Given the description of an element on the screen output the (x, y) to click on. 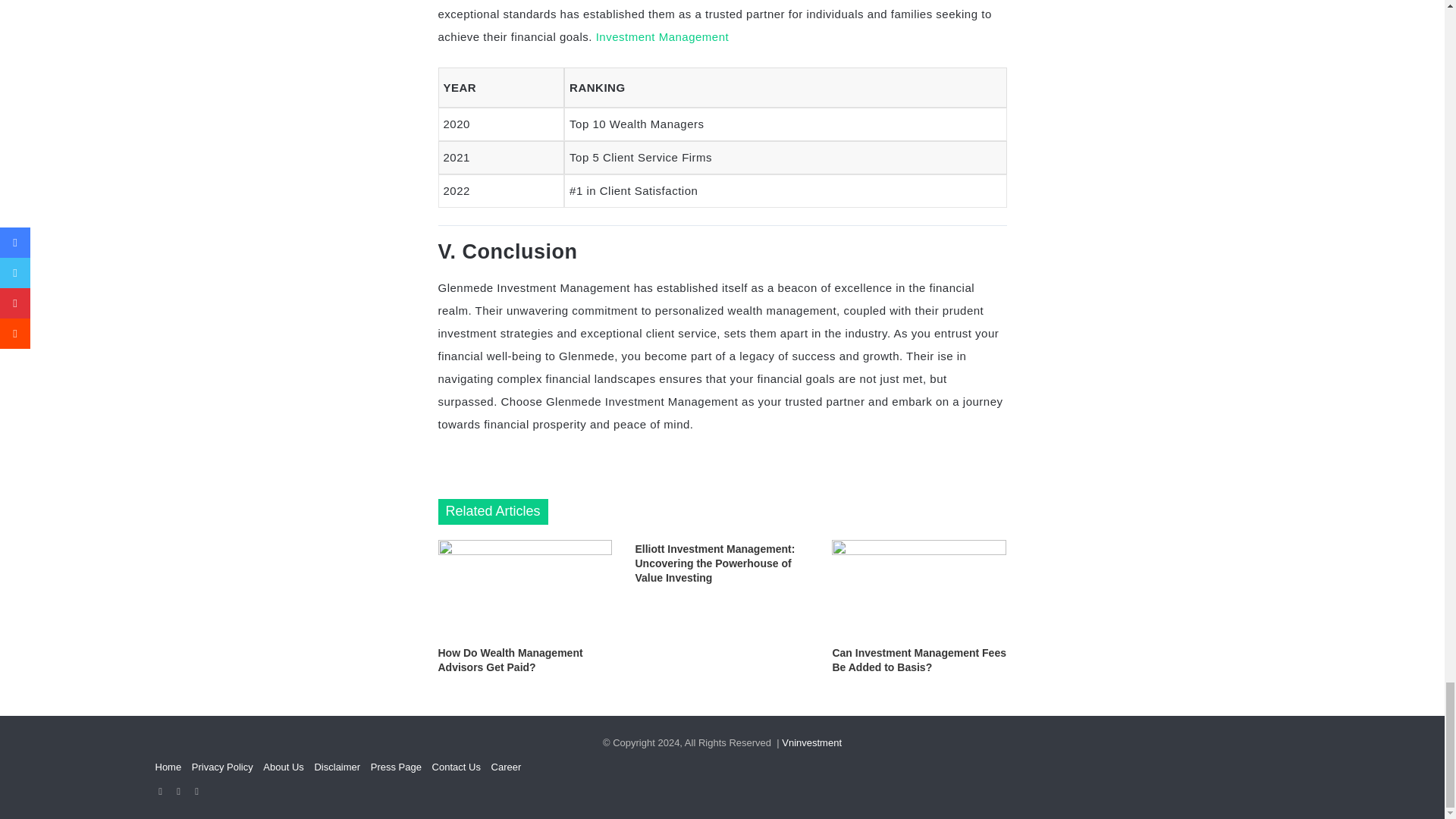
investment management (662, 36)
